Given the description of an element on the screen output the (x, y) to click on. 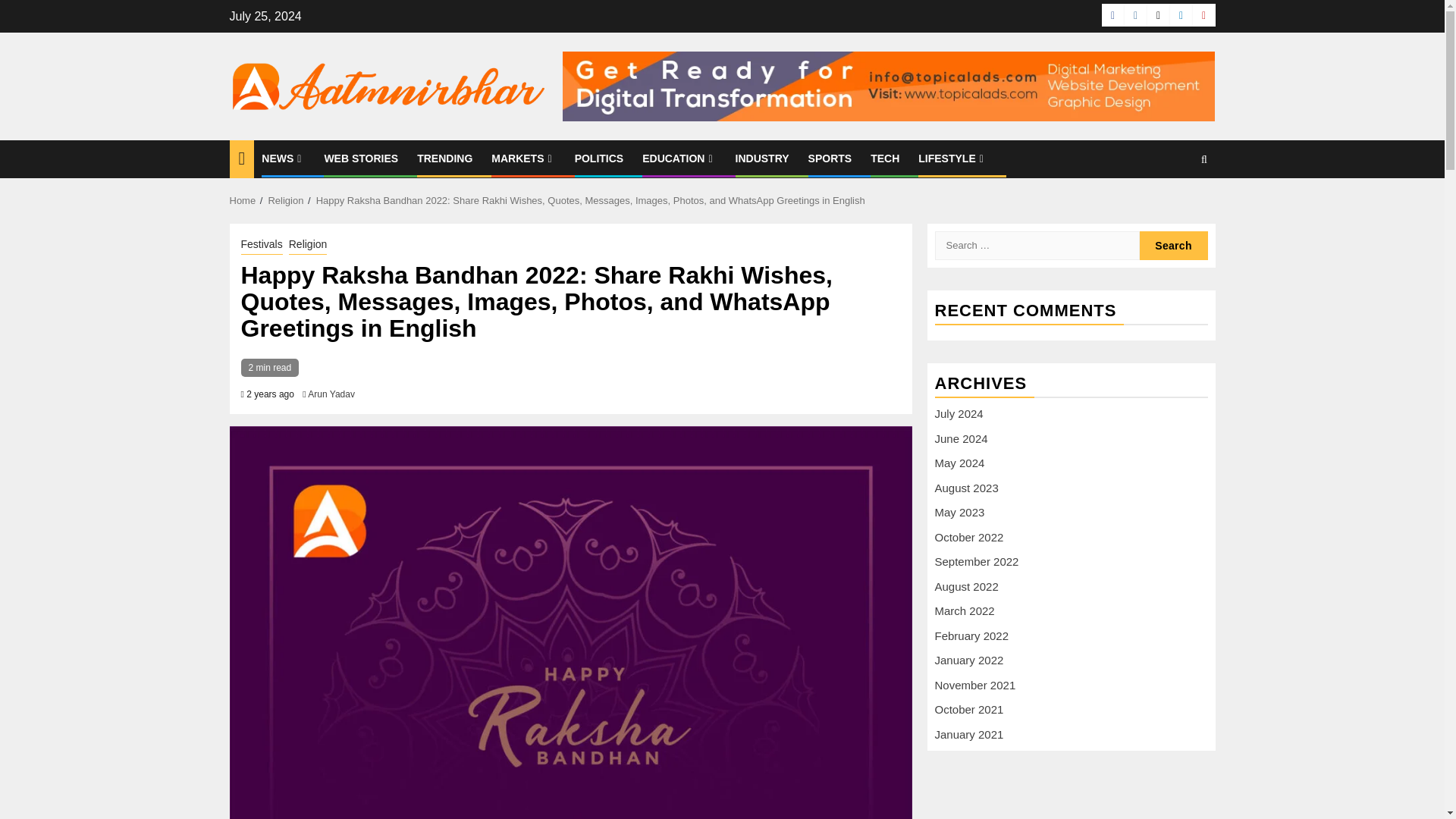
EDUCATION (679, 158)
POLITICS (599, 158)
Home (242, 200)
WEB STORIES (360, 158)
Search (1174, 205)
Search (1172, 245)
Search (1172, 245)
SPORTS (829, 158)
TECH (884, 158)
LIFESTYLE (952, 158)
NEWS (283, 158)
MARKETS (523, 158)
Religion (284, 200)
INDUSTRY (762, 158)
